Given the description of an element on the screen output the (x, y) to click on. 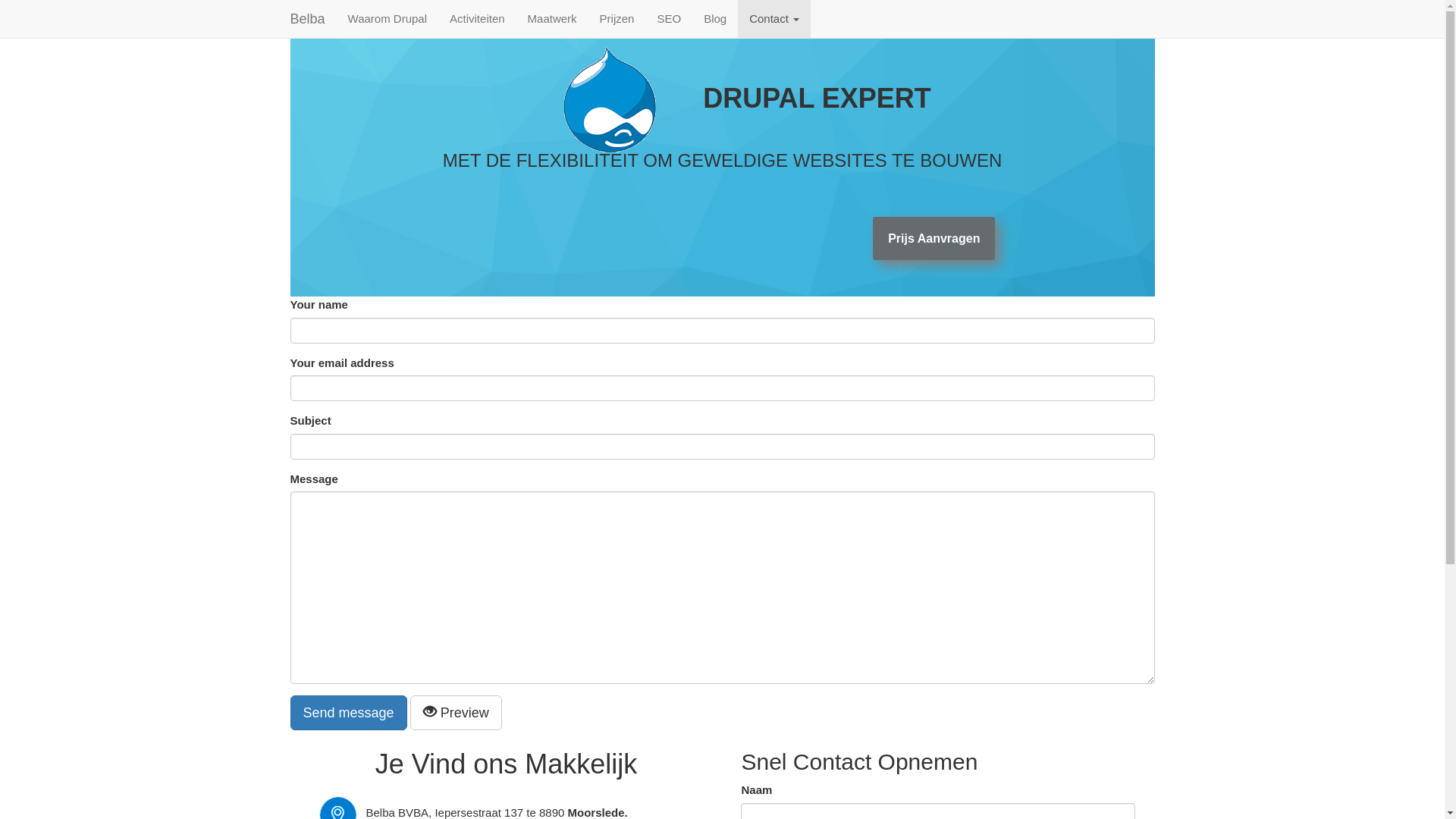
Contact Element type: text (773, 18)
Preview Element type: text (456, 712)
Maatwerk Element type: text (552, 18)
Send message Element type: text (347, 712)
Prijs Aanvragen Element type: text (933, 238)
SEO Element type: text (668, 18)
Blog Element type: text (714, 18)
Skip to main content Element type: text (0, 0)
Belba Element type: text (307, 18)
Activiteiten Element type: text (477, 18)
Prijzen Element type: text (617, 18)
Waarom Drupal Element type: text (387, 18)
